Given the description of an element on the screen output the (x, y) to click on. 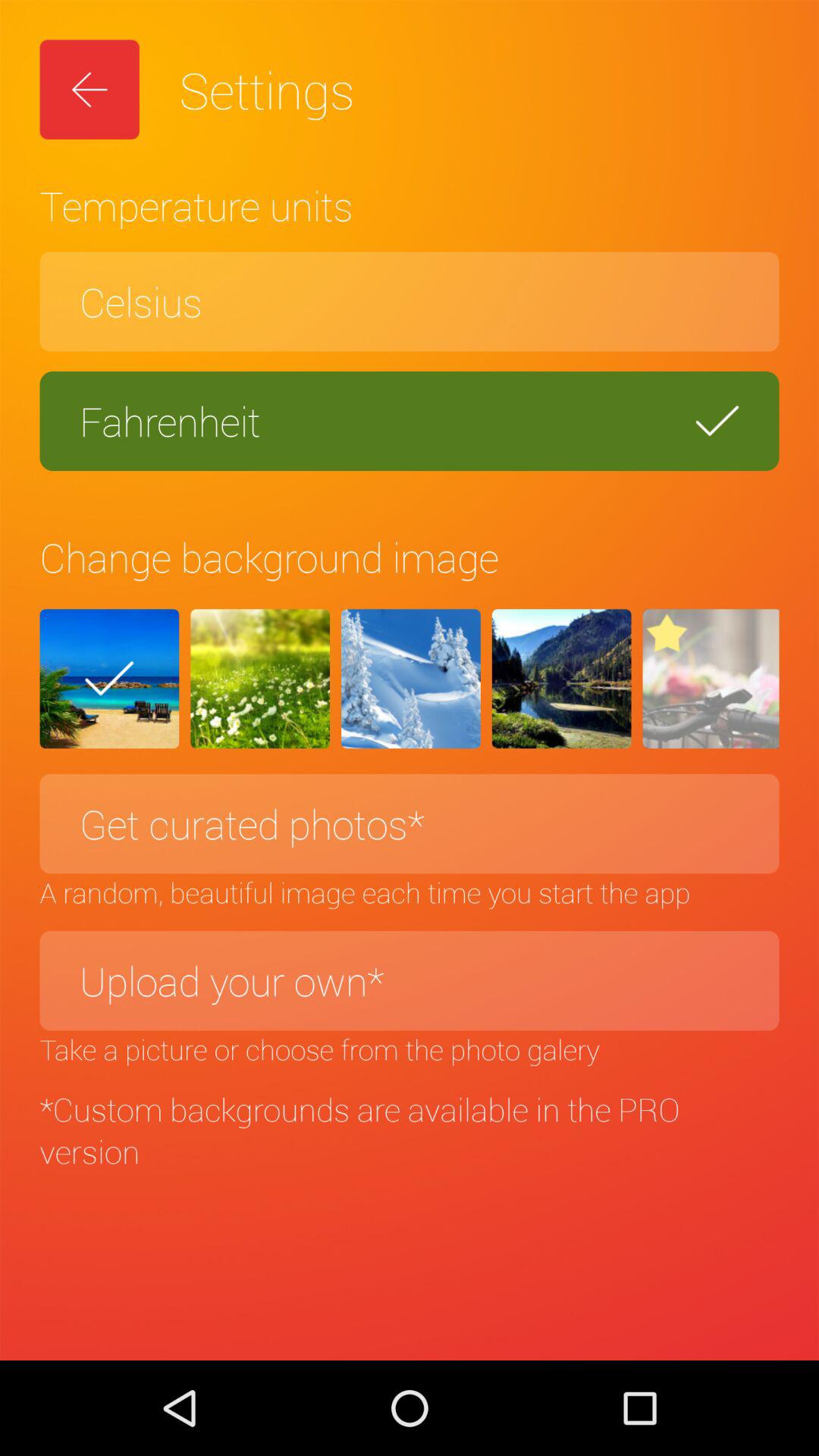
flip until the celsius item (409, 301)
